Given the description of an element on the screen output the (x, y) to click on. 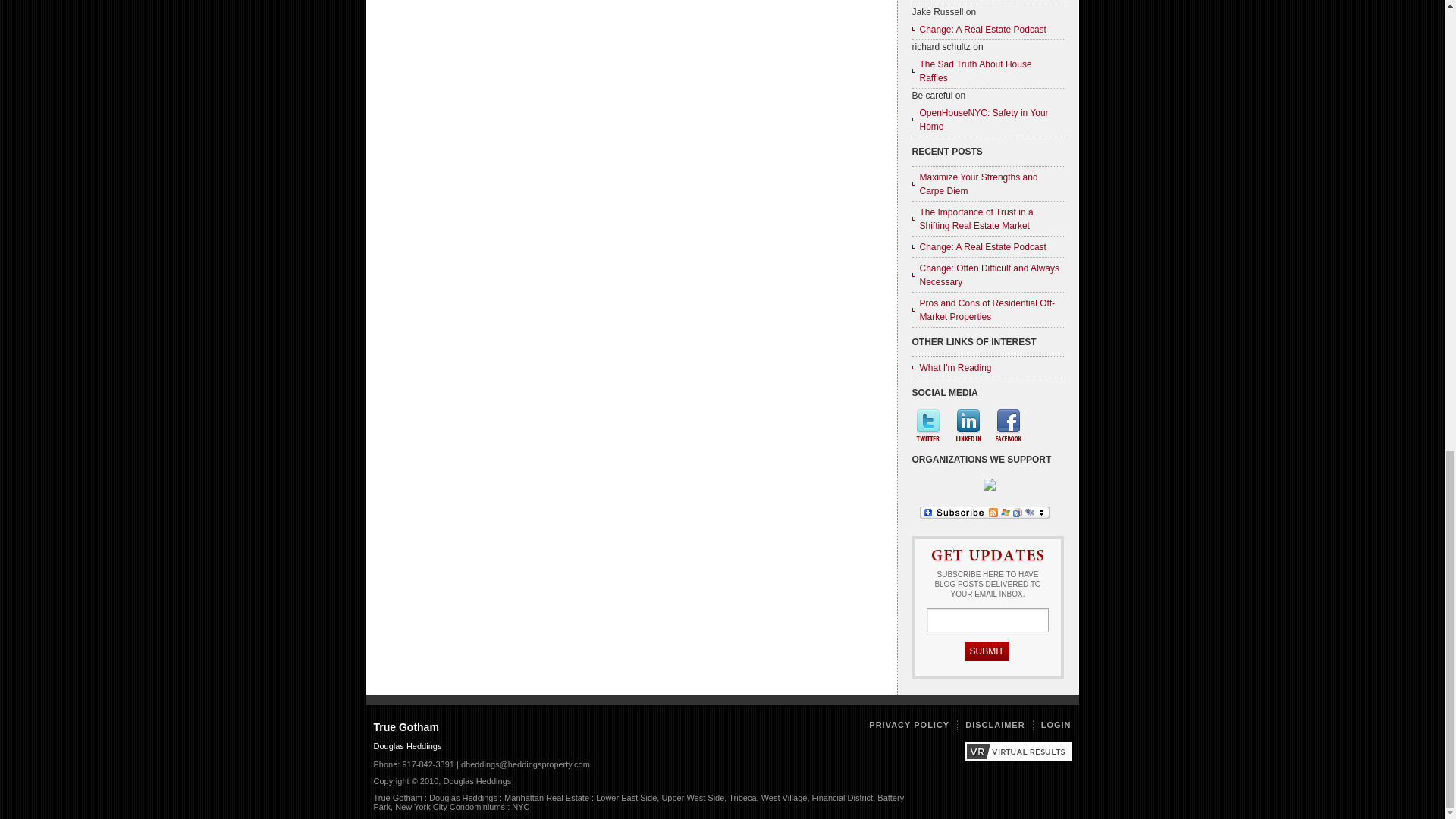
Site By Virtual Results (1016, 757)
submit (986, 650)
True Gotham (405, 727)
